Given the description of an element on the screen output the (x, y) to click on. 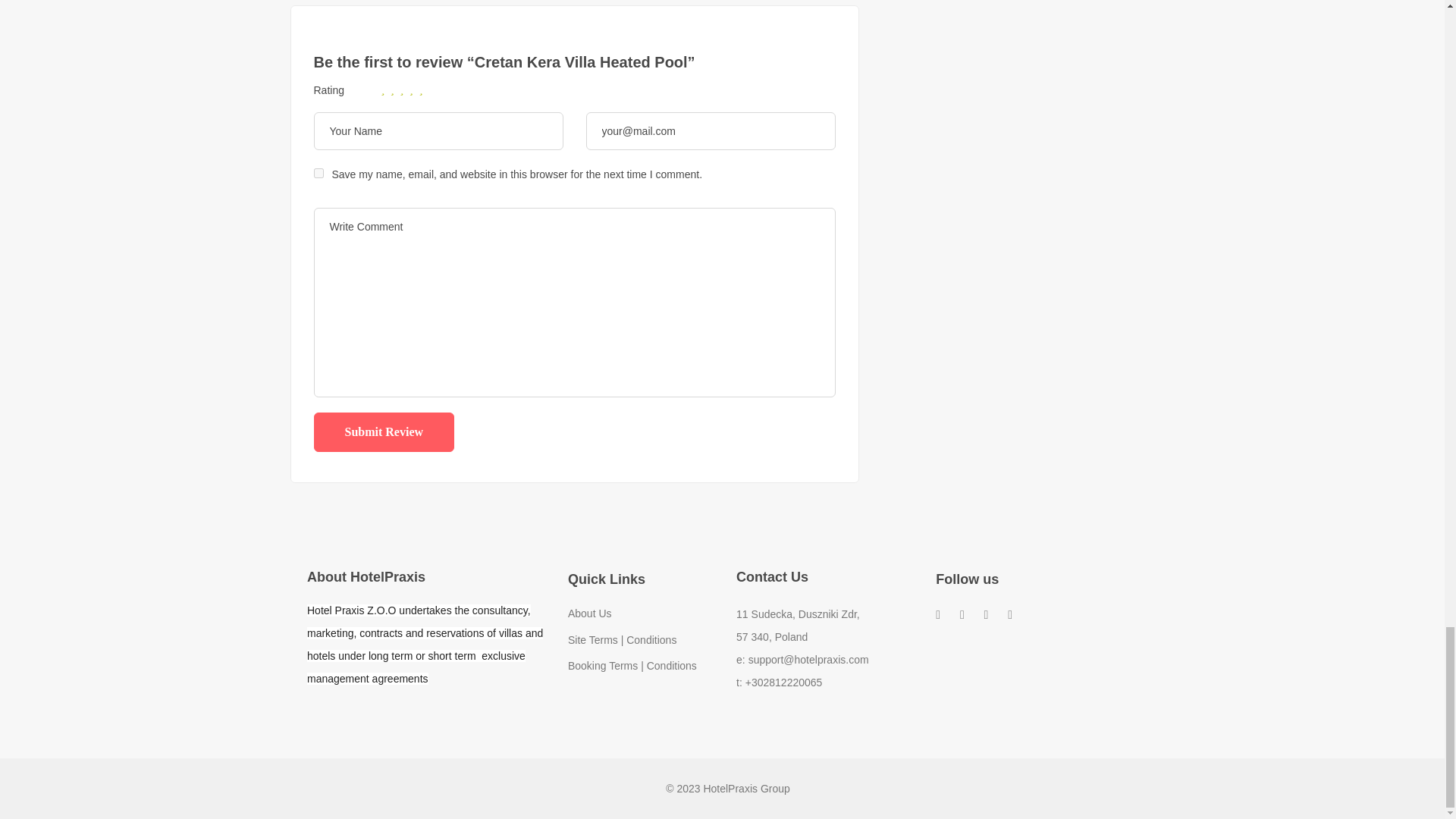
yes (318, 173)
Submit Review (384, 432)
